Given the description of an element on the screen output the (x, y) to click on. 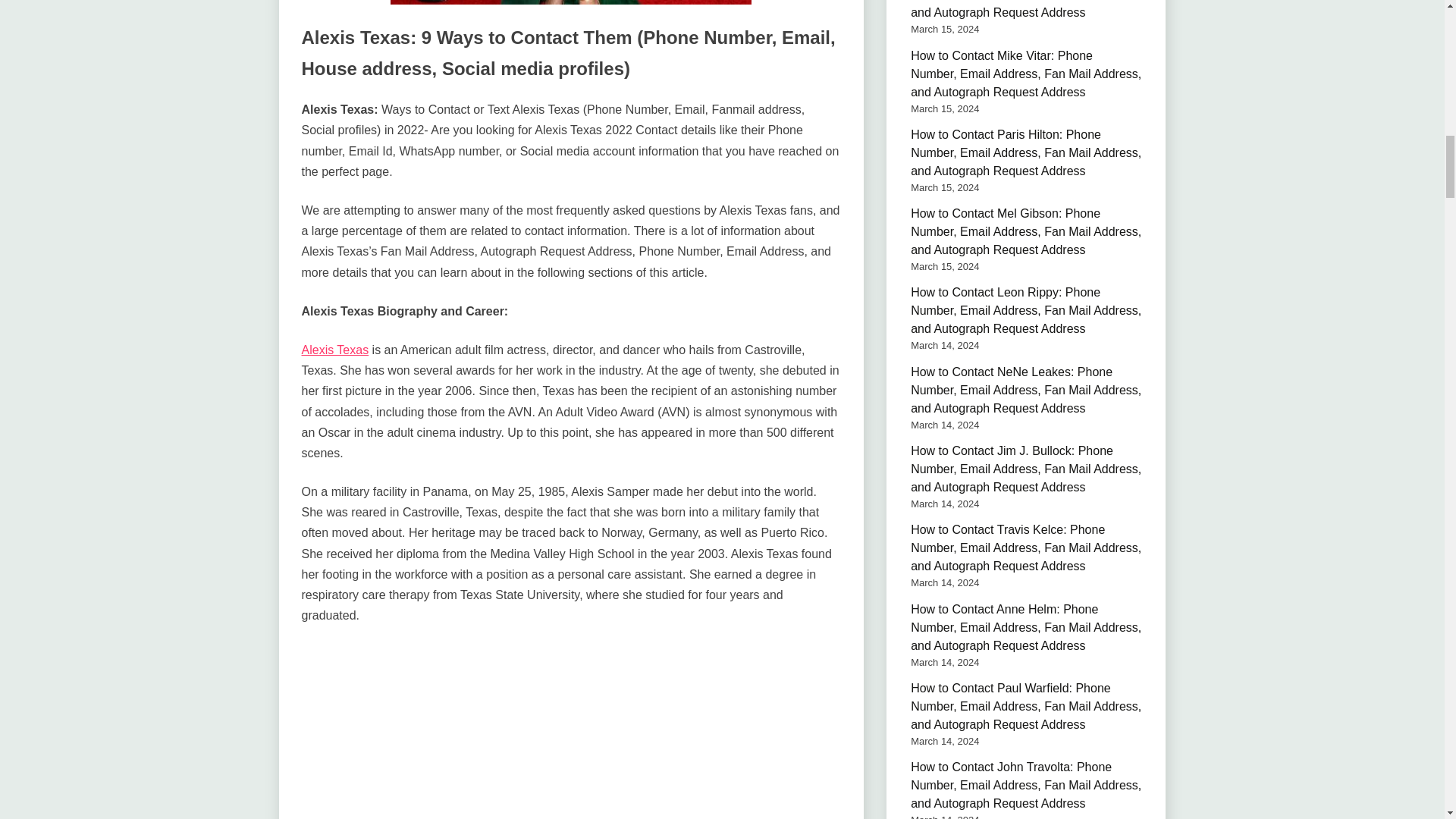
Advertisement (571, 731)
Alexis Texas (335, 349)
